Given the description of an element on the screen output the (x, y) to click on. 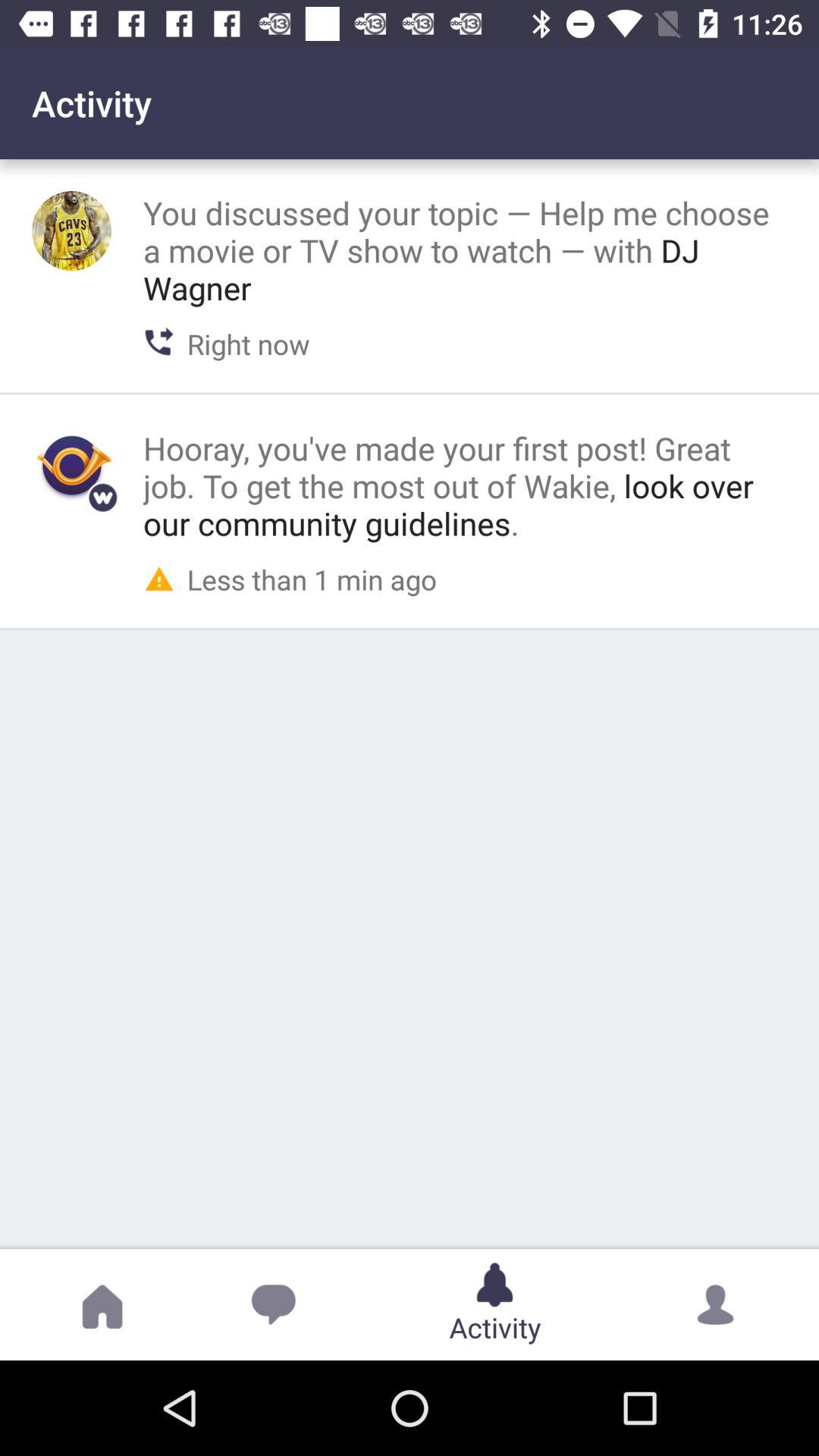
share the article (71, 230)
